Given the description of an element on the screen output the (x, y) to click on. 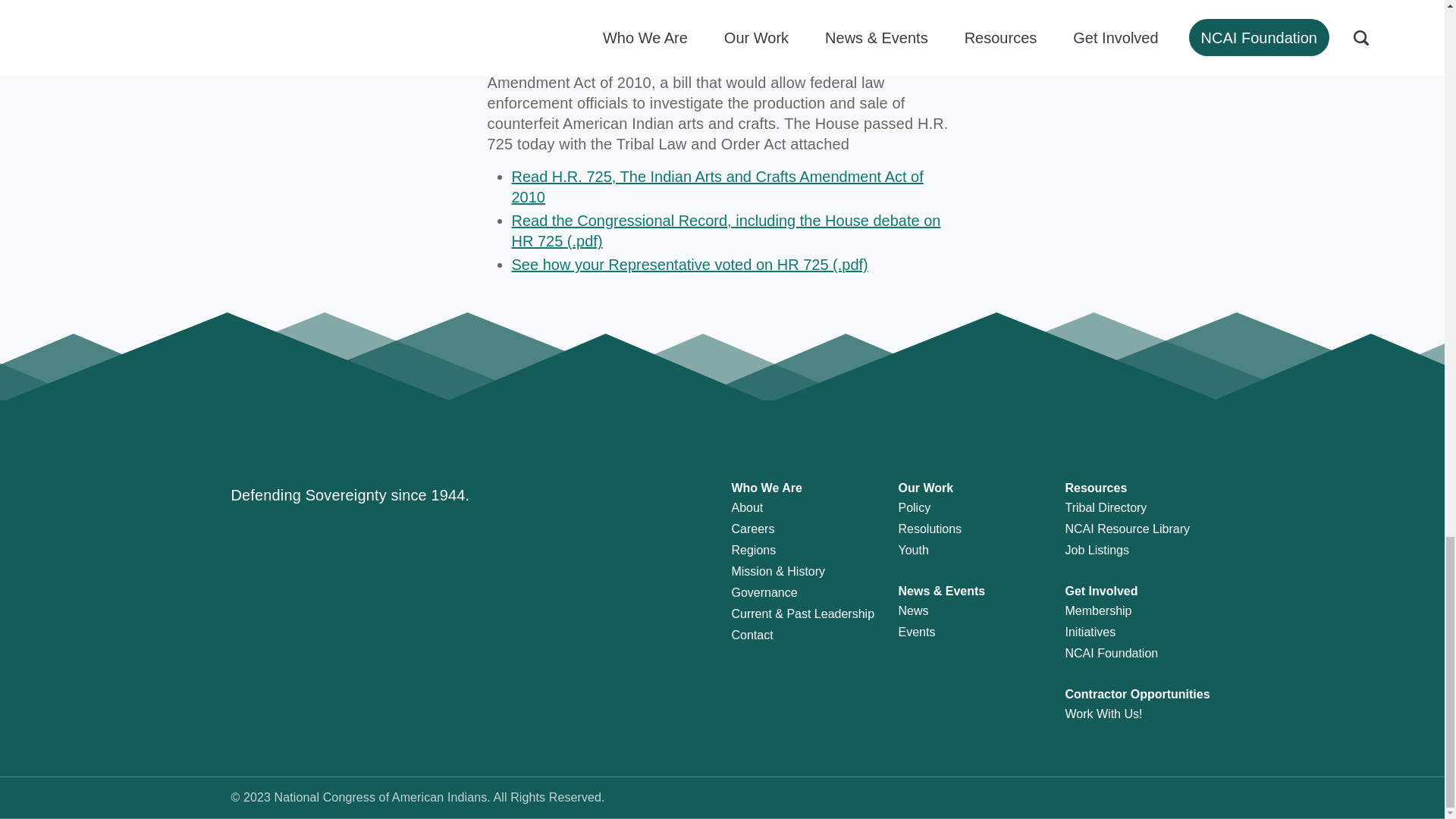
About (746, 507)
NCAI Resource Library (1126, 528)
Policy (914, 507)
Work With Us! (1102, 713)
Regions (753, 549)
Tribal Directory (1105, 507)
NCAI Foundation (1110, 653)
Membership (1097, 610)
News (913, 610)
Youth (913, 549)
Initiatives (1089, 631)
Careers (752, 528)
Governance (763, 592)
Contact (751, 634)
